Given the description of an element on the screen output the (x, y) to click on. 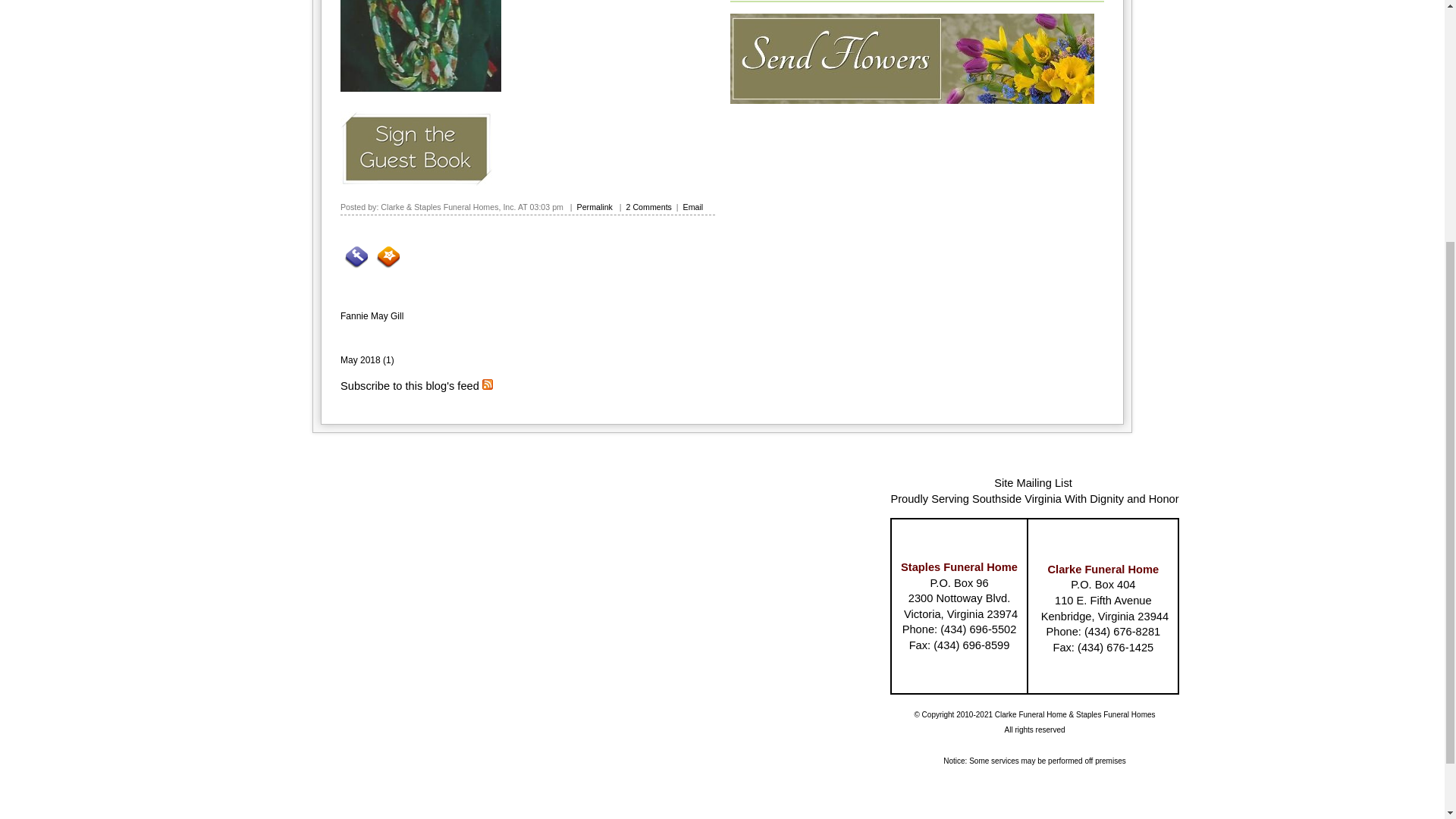
Email (692, 206)
Site Mailing List (1032, 482)
2 Comments (648, 206)
Fannie May Gill (371, 316)
Permalink (594, 206)
Subscribe to this blog's feed (409, 386)
